Given the description of an element on the screen output the (x, y) to click on. 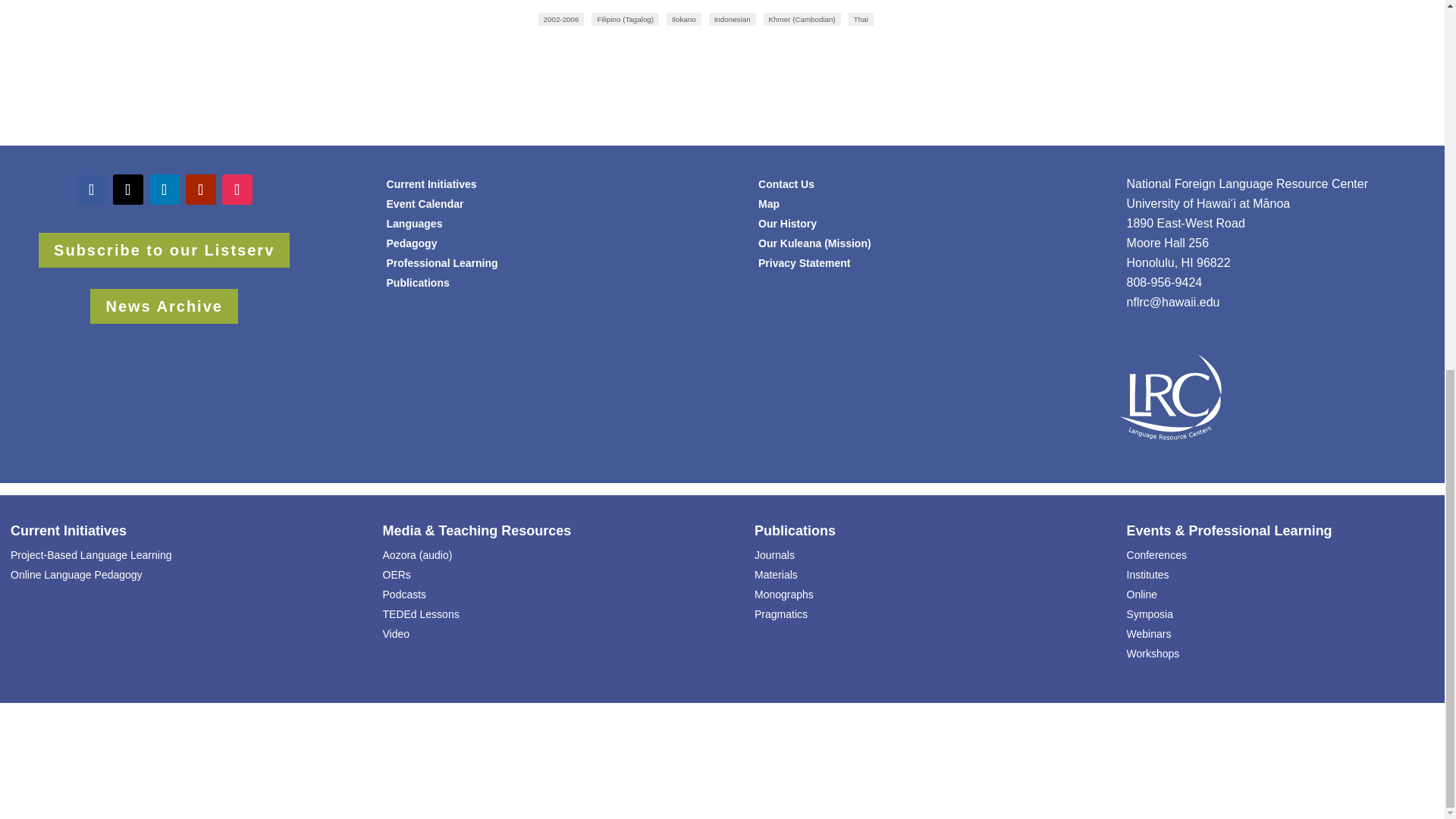
Event Calendar (425, 203)
Indonesian (732, 19)
Follow on Youtube (200, 189)
Pedagogy (412, 243)
News Archive (163, 306)
Current Initiatives (432, 184)
Languages (414, 223)
Follow on Facebook (91, 189)
Follow on LinkedIn (164, 189)
Ilokano (683, 19)
Thai (860, 19)
Follow on Instagram (236, 189)
Follow on X (127, 189)
Subscribe to our Listserv (164, 249)
2002-2006 (561, 19)
